Given the description of an element on the screen output the (x, y) to click on. 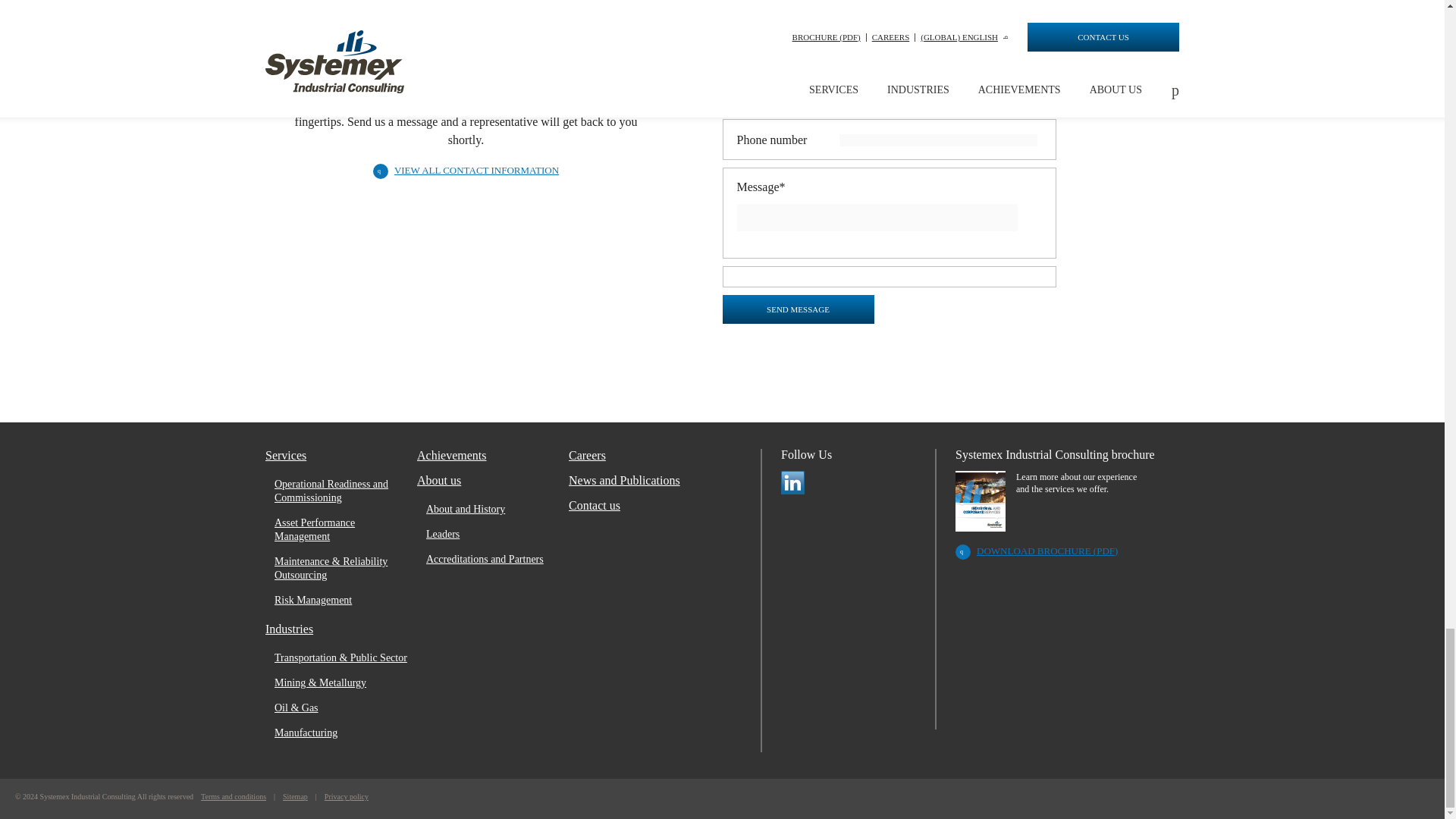
Asset Performance Management (342, 529)
Risk Management (342, 600)
Services (340, 455)
Industries (340, 629)
VIEW ALL CONTACT INFORMATION (465, 169)
Operational Readiness and Commissioning (342, 491)
SEND MESSAGE (797, 308)
